Given the description of an element on the screen output the (x, y) to click on. 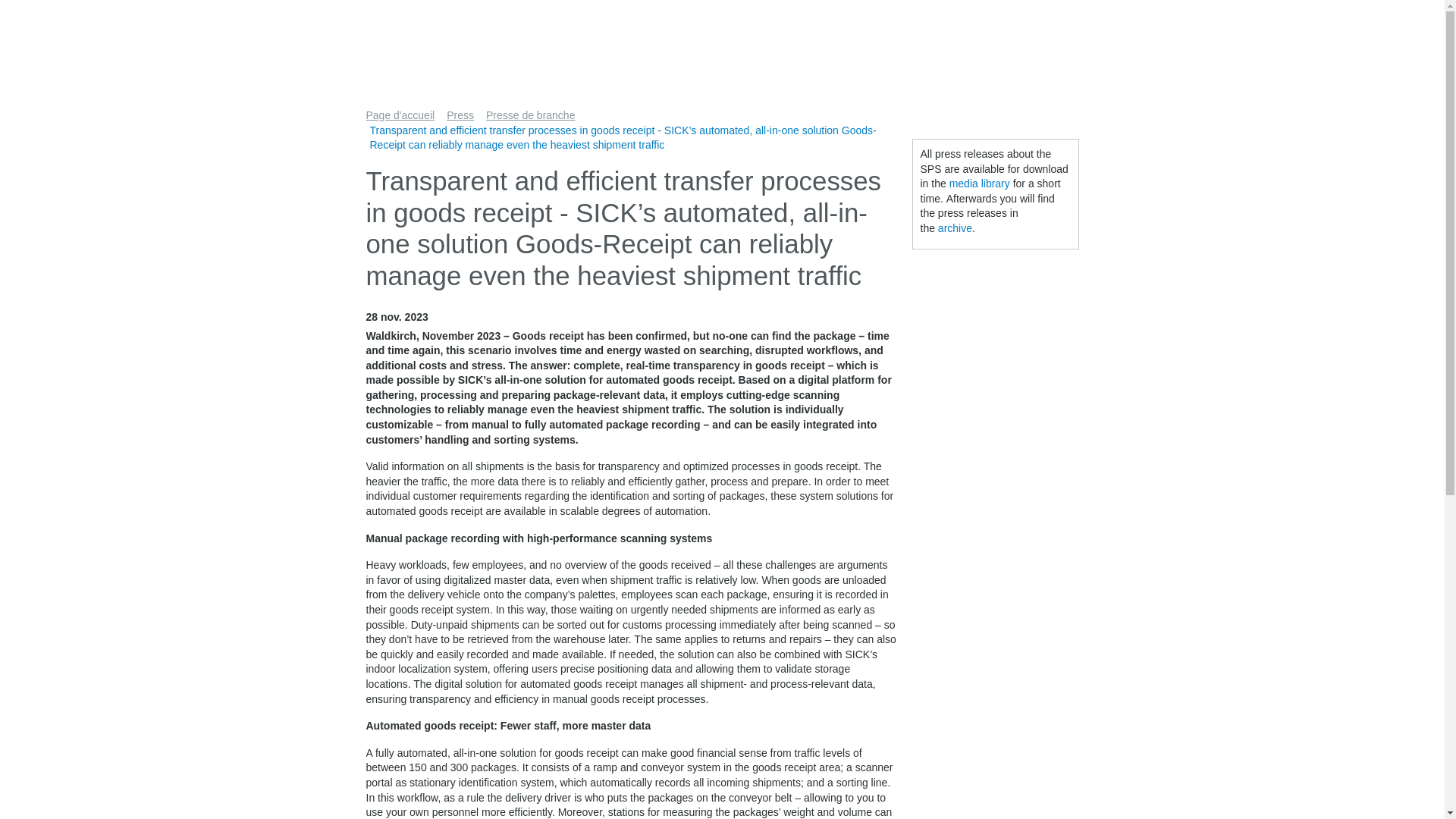
Page d'accueil (403, 115)
Press (463, 115)
media library (979, 183)
Presse de branche (534, 115)
archive (954, 227)
